Given the description of an element on the screen output the (x, y) to click on. 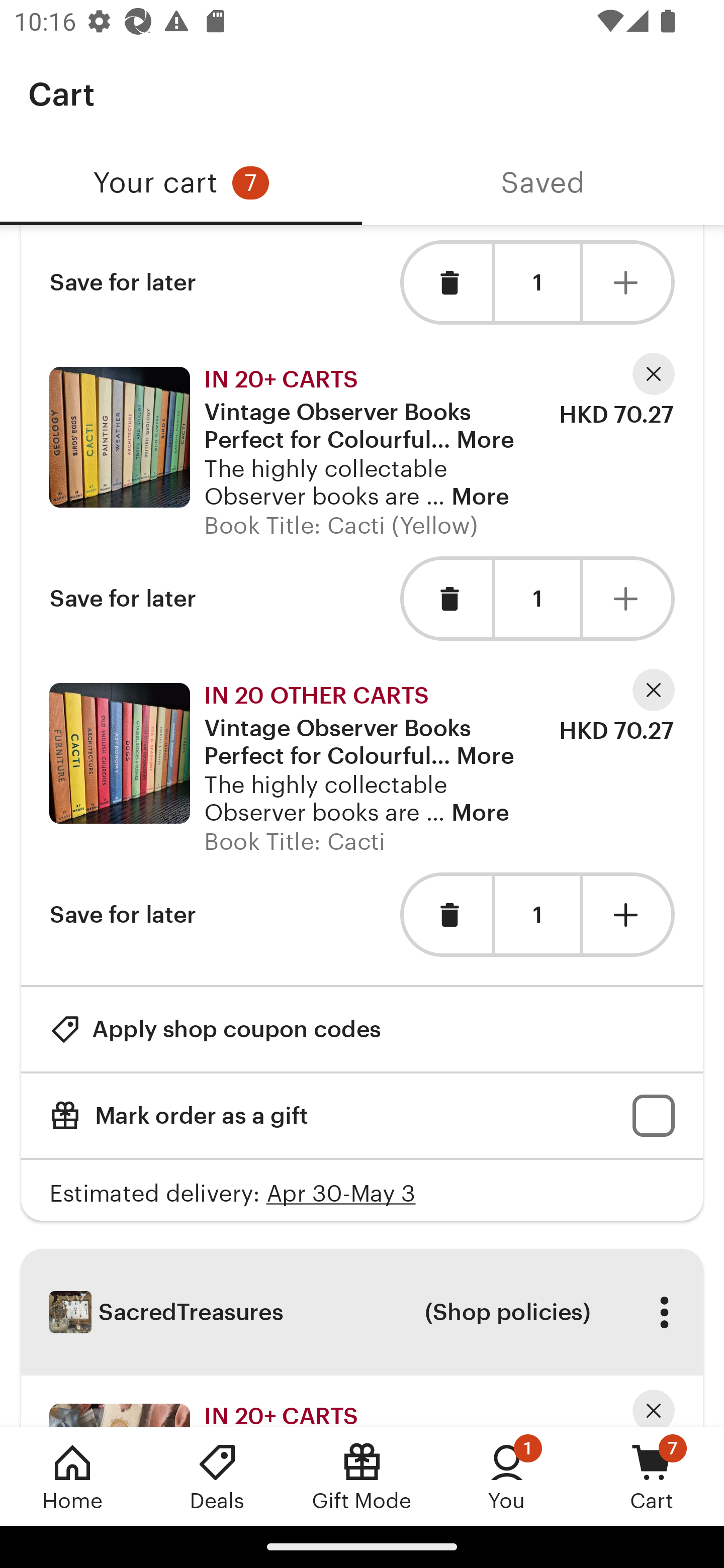
Saved, tab 2 of 2 Saved (543, 183)
Save for later (122, 281)
Remove item from cart (445, 281)
Add one unit to cart (628, 281)
1 (537, 282)
Save for later (122, 598)
Remove item from cart (445, 598)
Add one unit to cart (628, 598)
1 (537, 598)
Save for later (122, 913)
Remove item from cart (445, 913)
Add one unit to cart (628, 913)
1 (537, 915)
Apply shop coupon codes (215, 1028)
Mark order as a gift (361, 1115)
SacredTreasures (Shop policies) More options (361, 1311)
(Shop policies) (507, 1312)
More options (663, 1312)
Home (72, 1475)
Deals (216, 1475)
Gift Mode (361, 1475)
You, 1 new notification You (506, 1475)
